Given the description of an element on the screen output the (x, y) to click on. 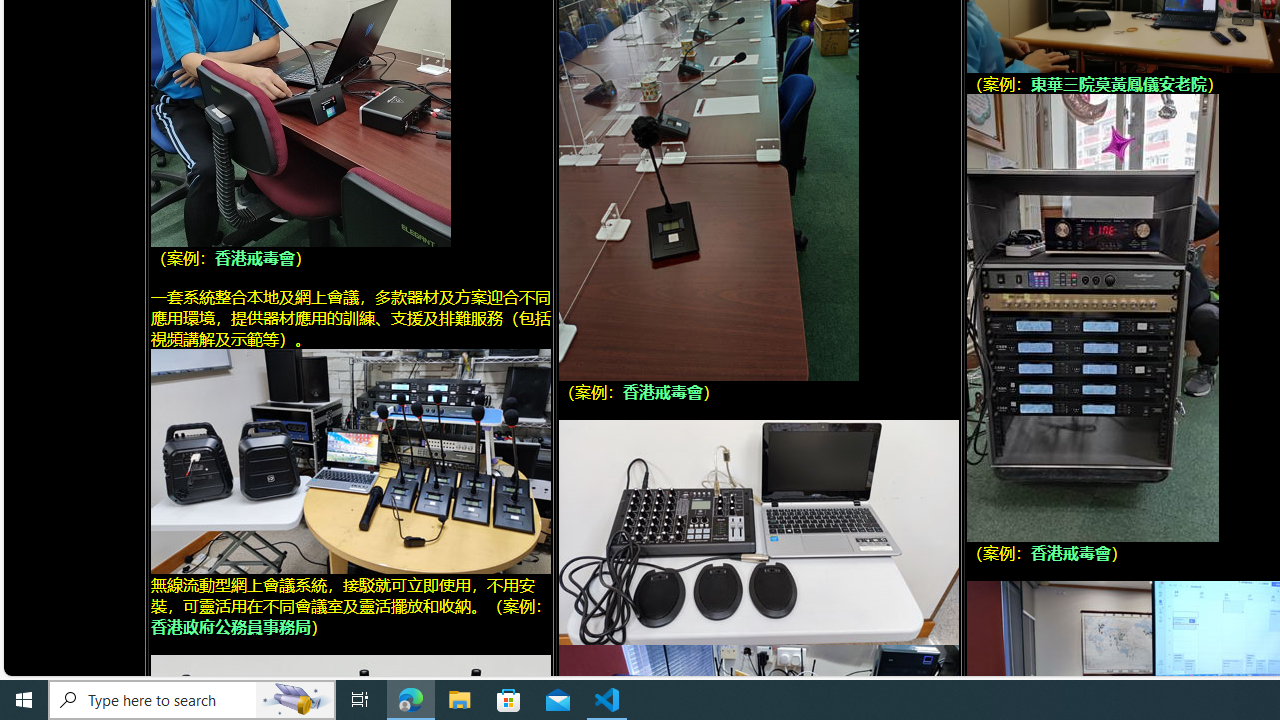
online meeting, zoom meeting, (350, 460)
zoom meeting (758, 532)
meeting equipment (1092, 317)
